Given the description of an element on the screen output the (x, y) to click on. 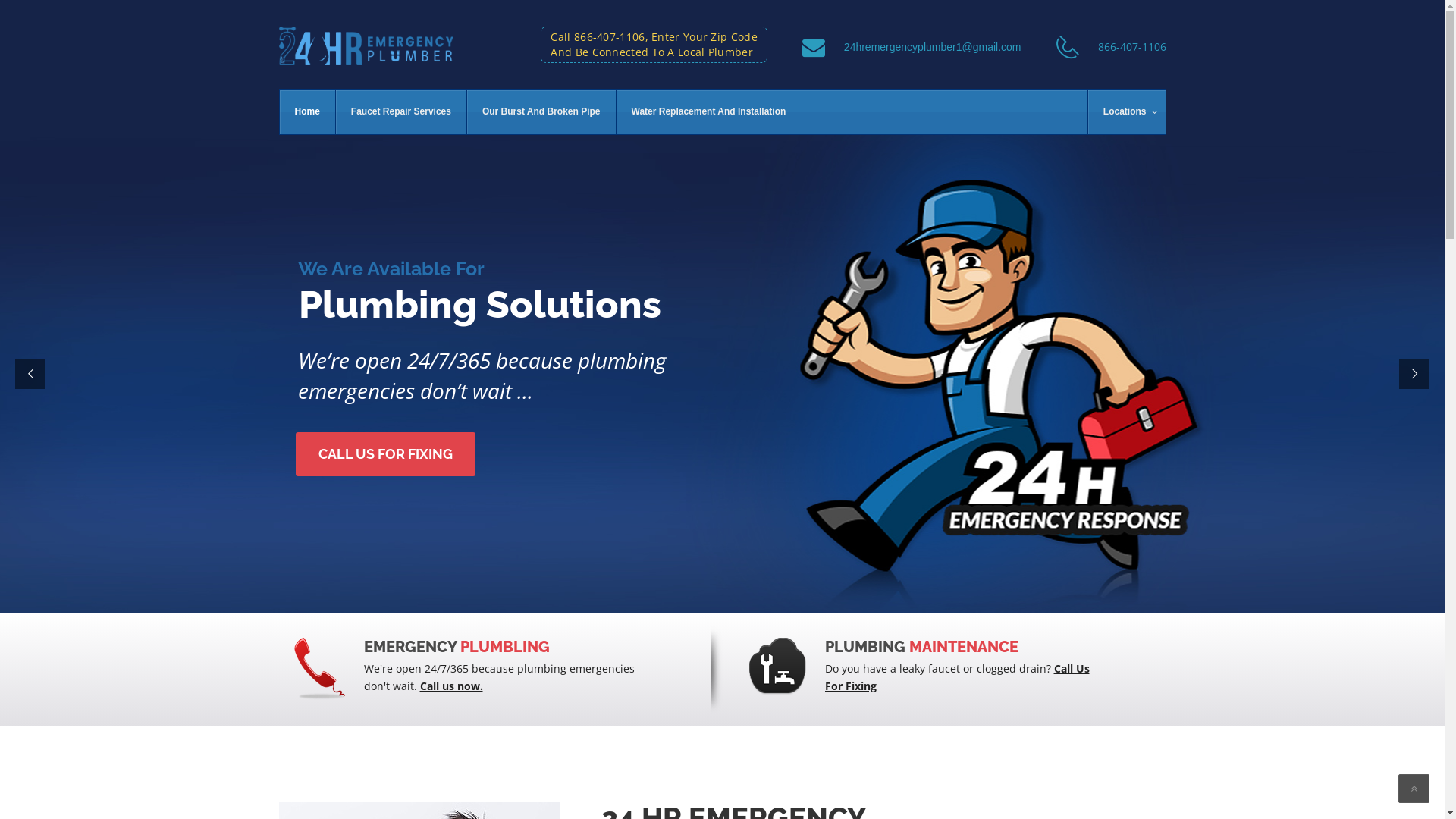
24hremergencyplumber1@gmail.com Element type: text (932, 46)
Call us now. Element type: text (451, 685)
Our Burst And Broken Pipe Element type: text (540, 112)
866-407-1106 Element type: text (1132, 46)
Faucet Repair Services Element type: text (400, 112)
Water Replacement And Installation Element type: text (708, 112)
Home Element type: text (306, 112)
Locations Element type: text (1126, 112)
CALL US FOR FIXING Element type: text (385, 454)
Call Us For Fixing Element type: text (957, 677)
